Given the description of an element on the screen output the (x, y) to click on. 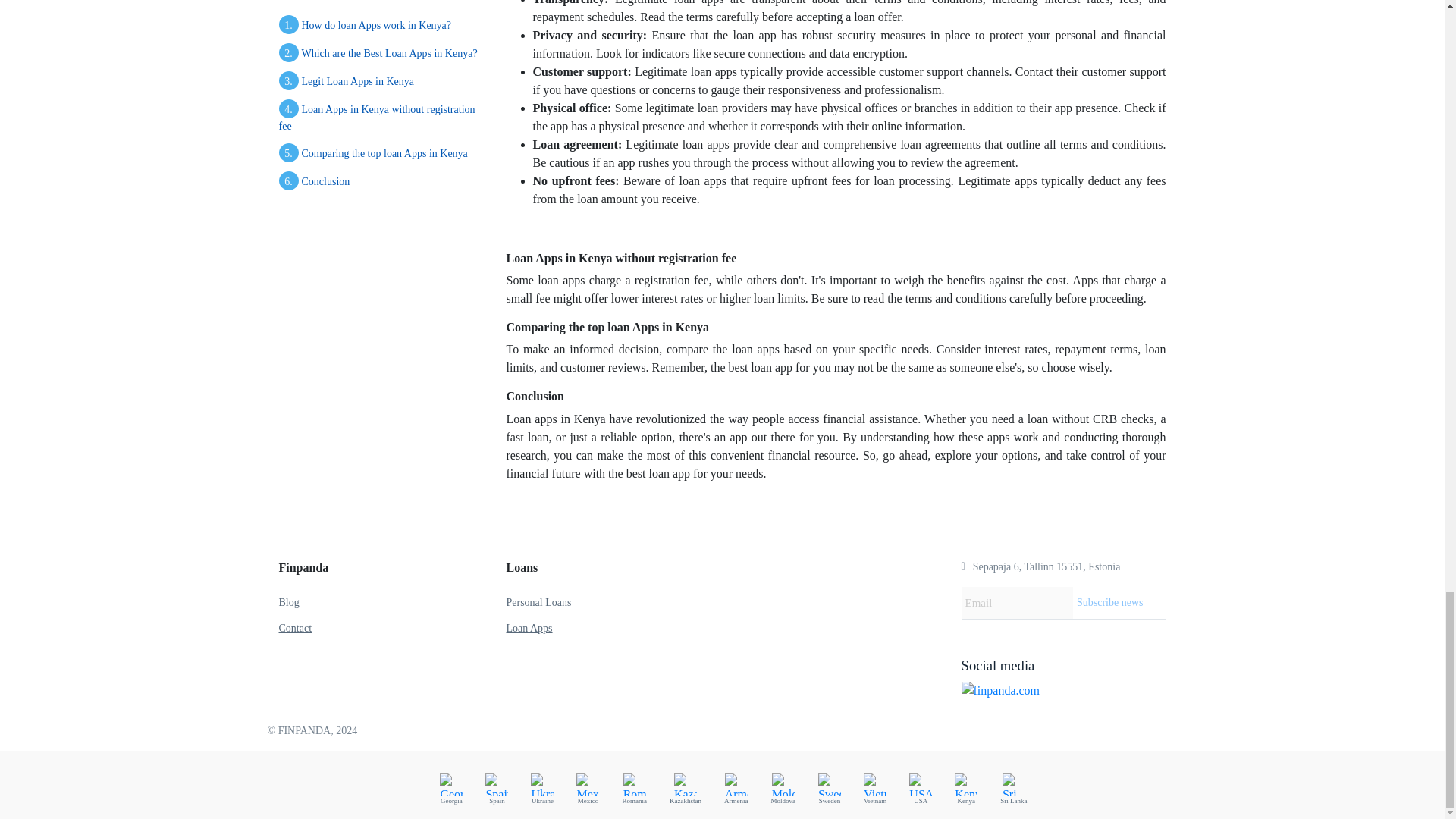
Loan Apps (529, 627)
Subscribe news (1119, 603)
Contact (296, 627)
Personal Loans (539, 602)
Kazakhstan (685, 788)
Blog (289, 602)
